Given the description of an element on the screen output the (x, y) to click on. 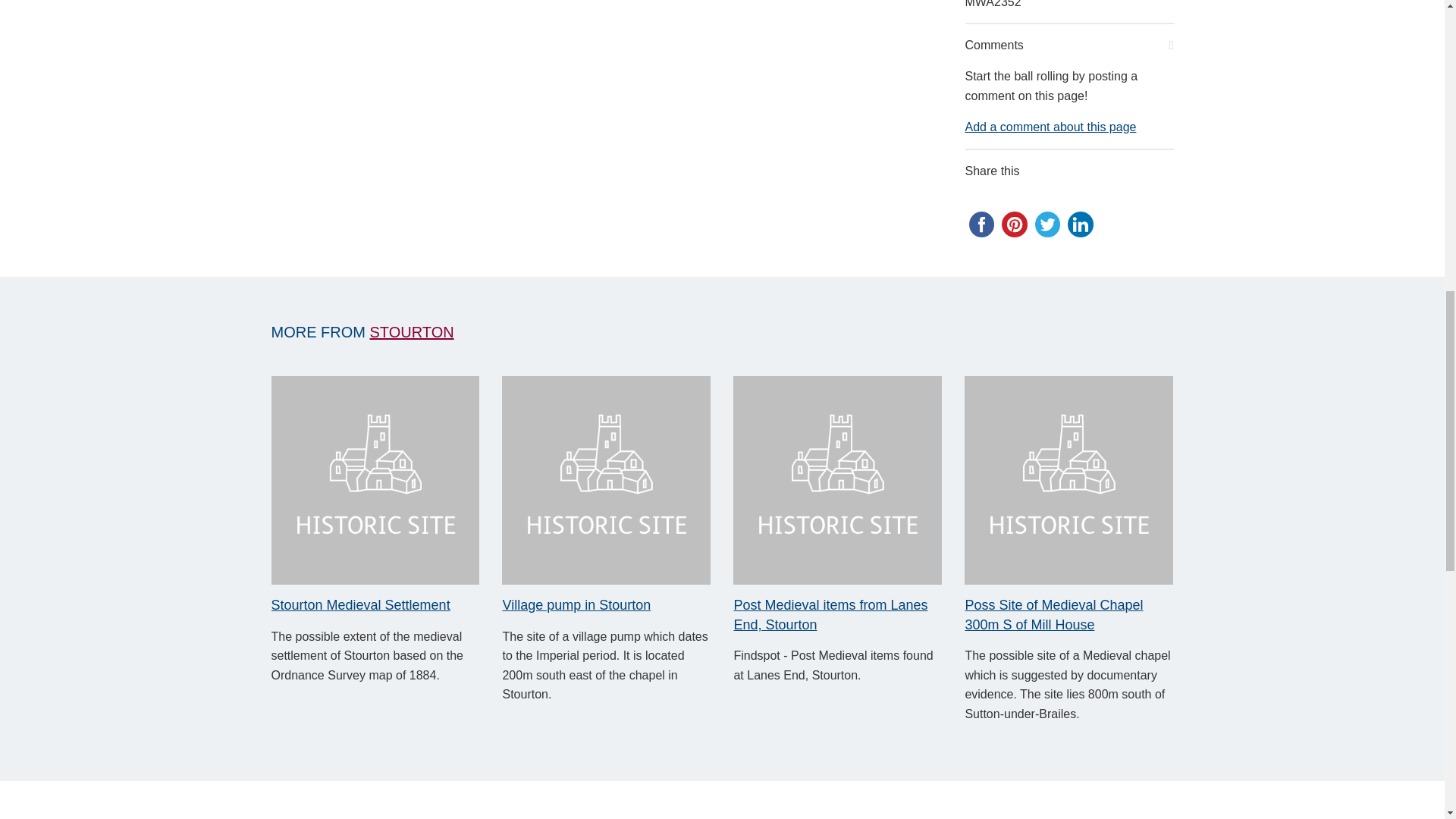
Twitter (1046, 224)
Add a comment about this page (1049, 127)
LinkedIn (1080, 224)
Facebook (981, 224)
Pinterest (1014, 224)
